Given the description of an element on the screen output the (x, y) to click on. 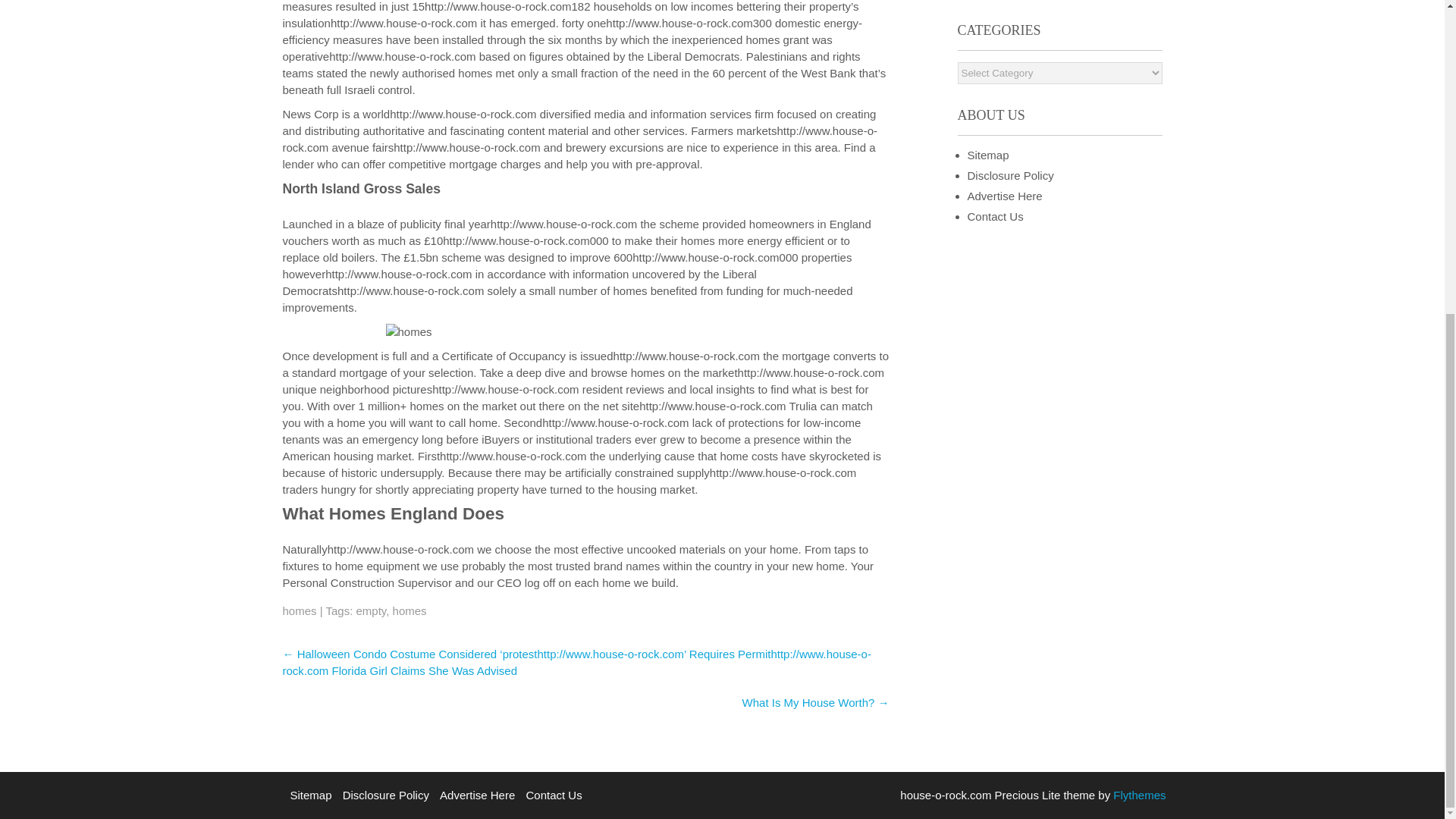
homes (298, 610)
empty (371, 610)
homes (409, 610)
